Given the description of an element on the screen output the (x, y) to click on. 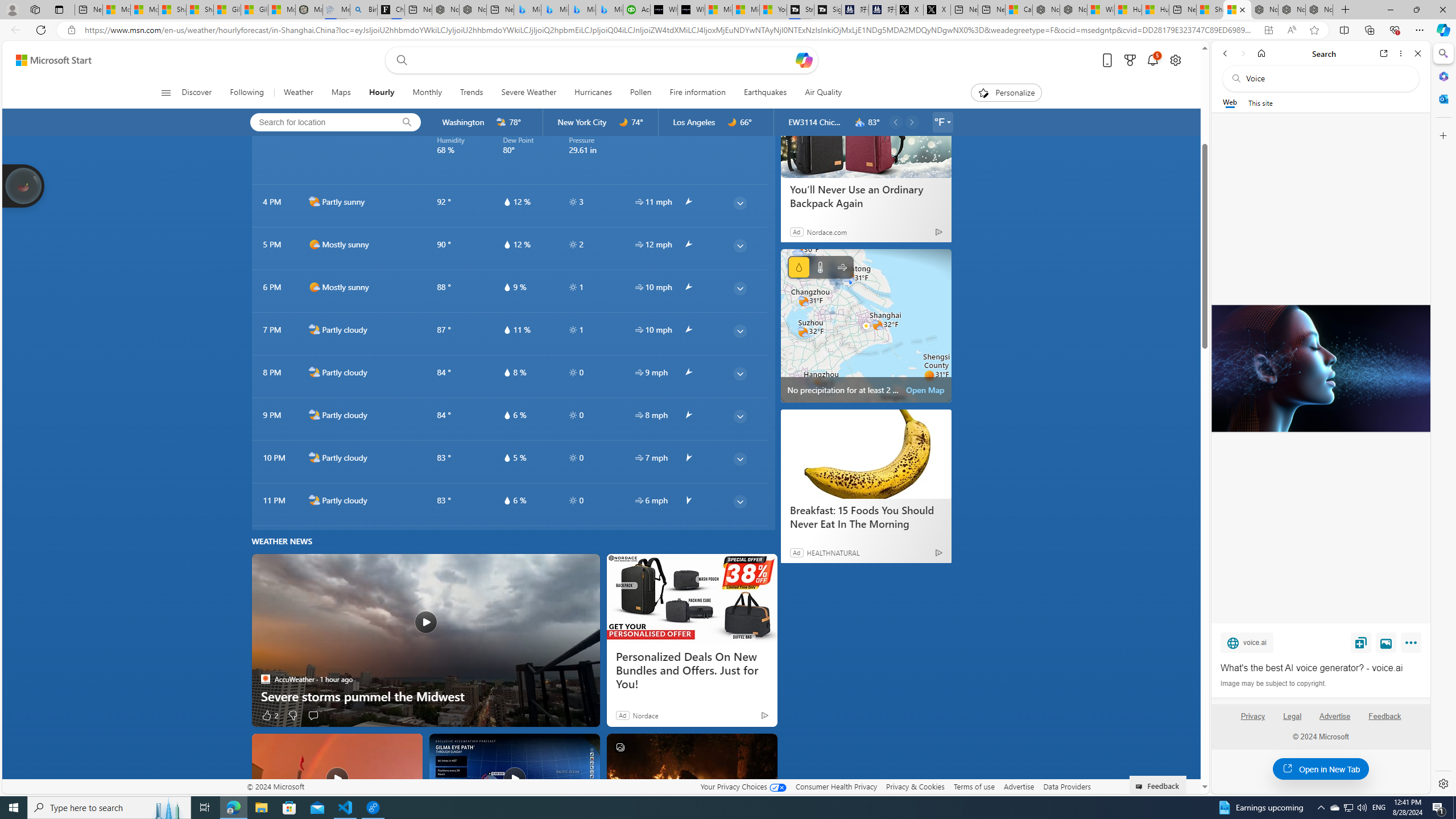
Consumer Health Privacy (835, 786)
hourlyTable/drop (506, 500)
Nordace - Siena Pro 15 Essential Set (1319, 9)
Microsoft Bing Travel - Stays in Bangkok, Bangkok, Thailand (554, 9)
